Given the description of an element on the screen output the (x, y) to click on. 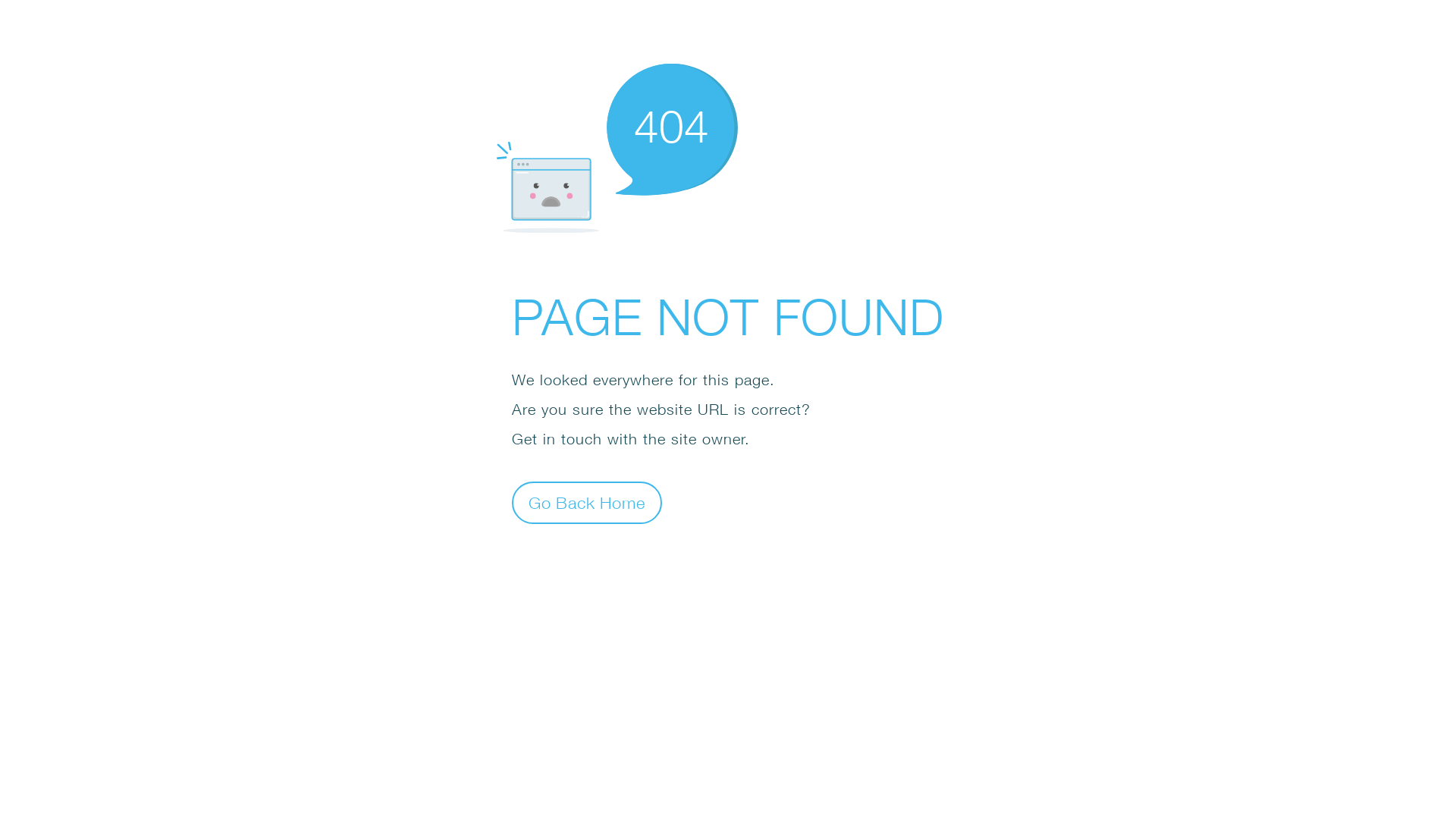
Go Back Home Element type: text (586, 502)
